Given the description of an element on the screen output the (x, y) to click on. 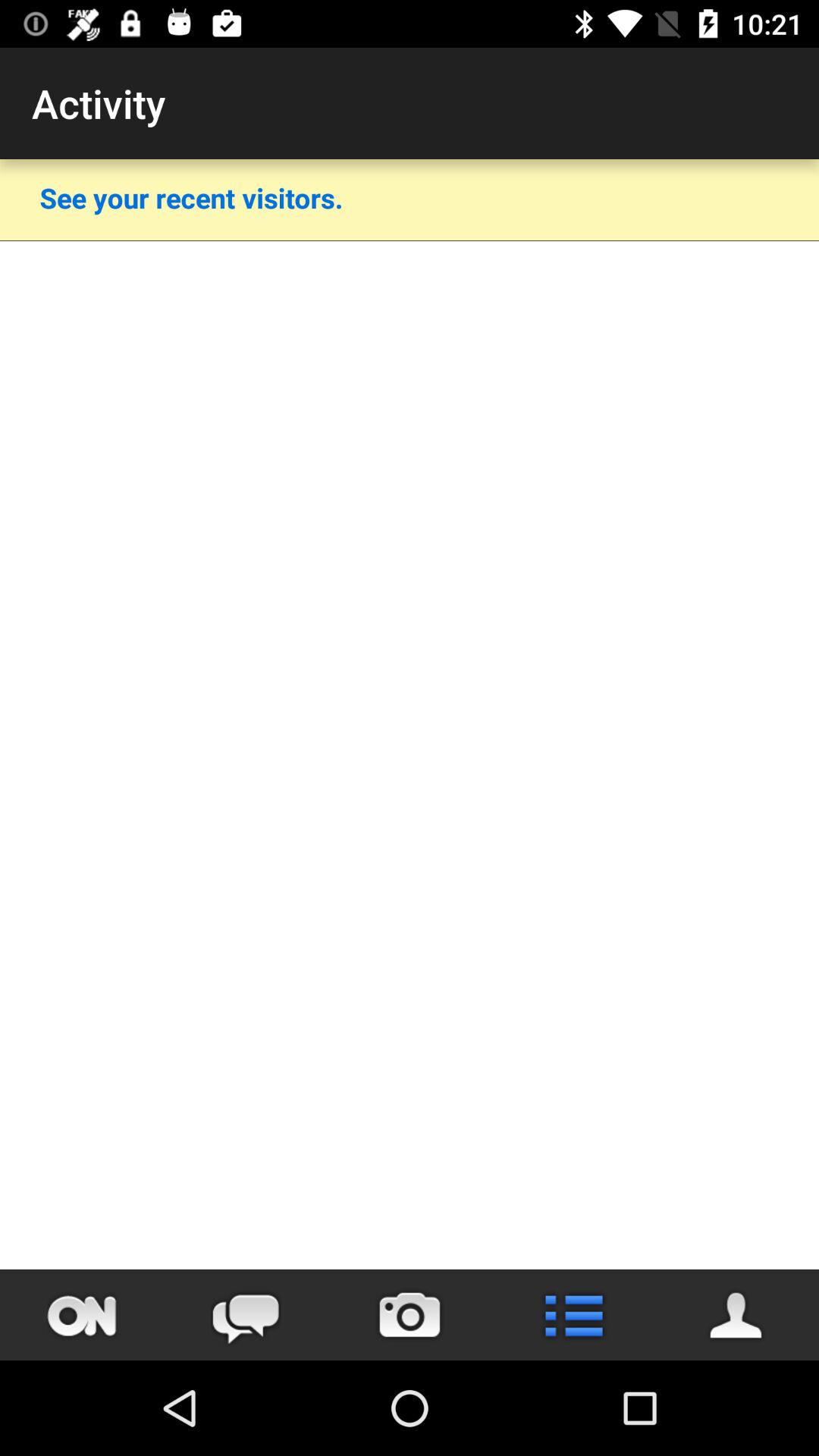
conversation history option (245, 1315)
